Given the description of an element on the screen output the (x, y) to click on. 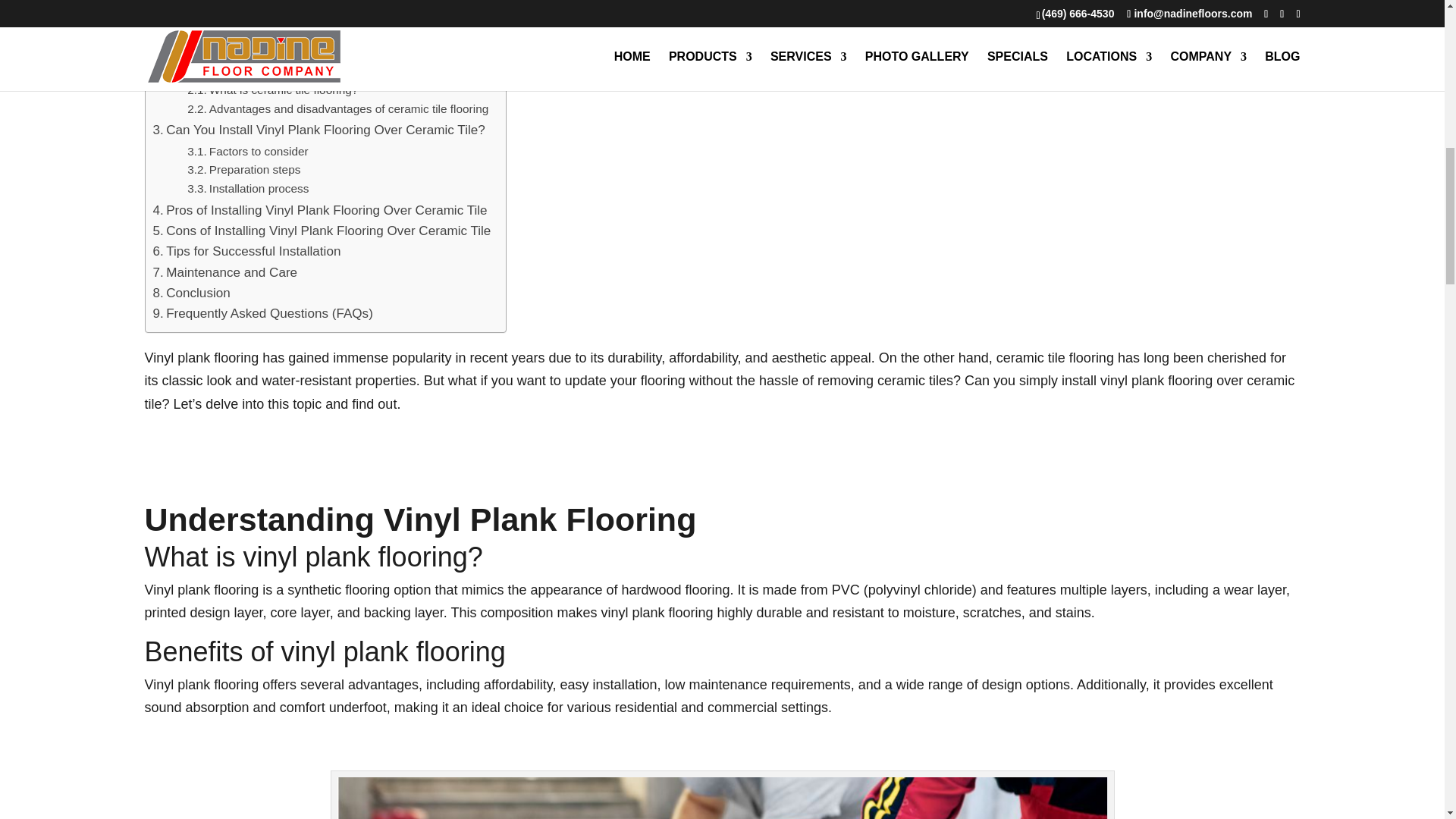
Pros of Installing Vinyl Plank Flooring Over Ceramic Tile (319, 209)
Benefits of vinyl plank flooring (274, 47)
Preparation steps (243, 169)
Exploring Ceramic Tile Flooring (249, 68)
Advantages and disadvantages of ceramic tile flooring (337, 108)
Installation process (247, 189)
Can You Install Vinyl Plank Flooring Over Ceramic Tile? (318, 129)
Factors to consider (247, 151)
What is ceramic tile flooring? (272, 90)
Understanding Vinyl Plank Flooring (260, 9)
